Given the description of an element on the screen output the (x, y) to click on. 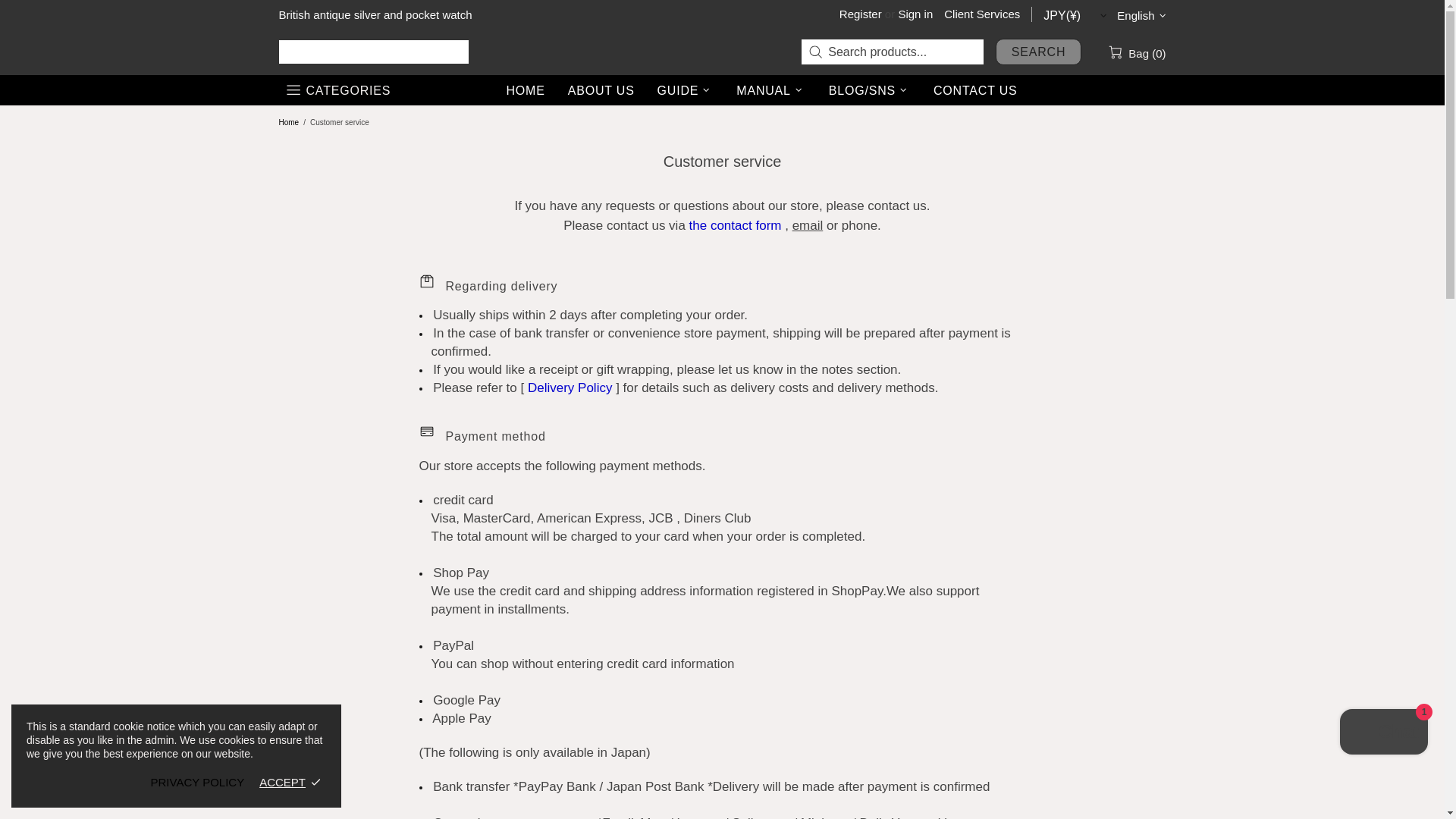
SEARCH (1038, 51)
Shopify online store chat (1383, 733)
SILVER-LUG (373, 51)
Sign in (915, 14)
Client Services (981, 14)
Register (861, 14)
